Given the description of an element on the screen output the (x, y) to click on. 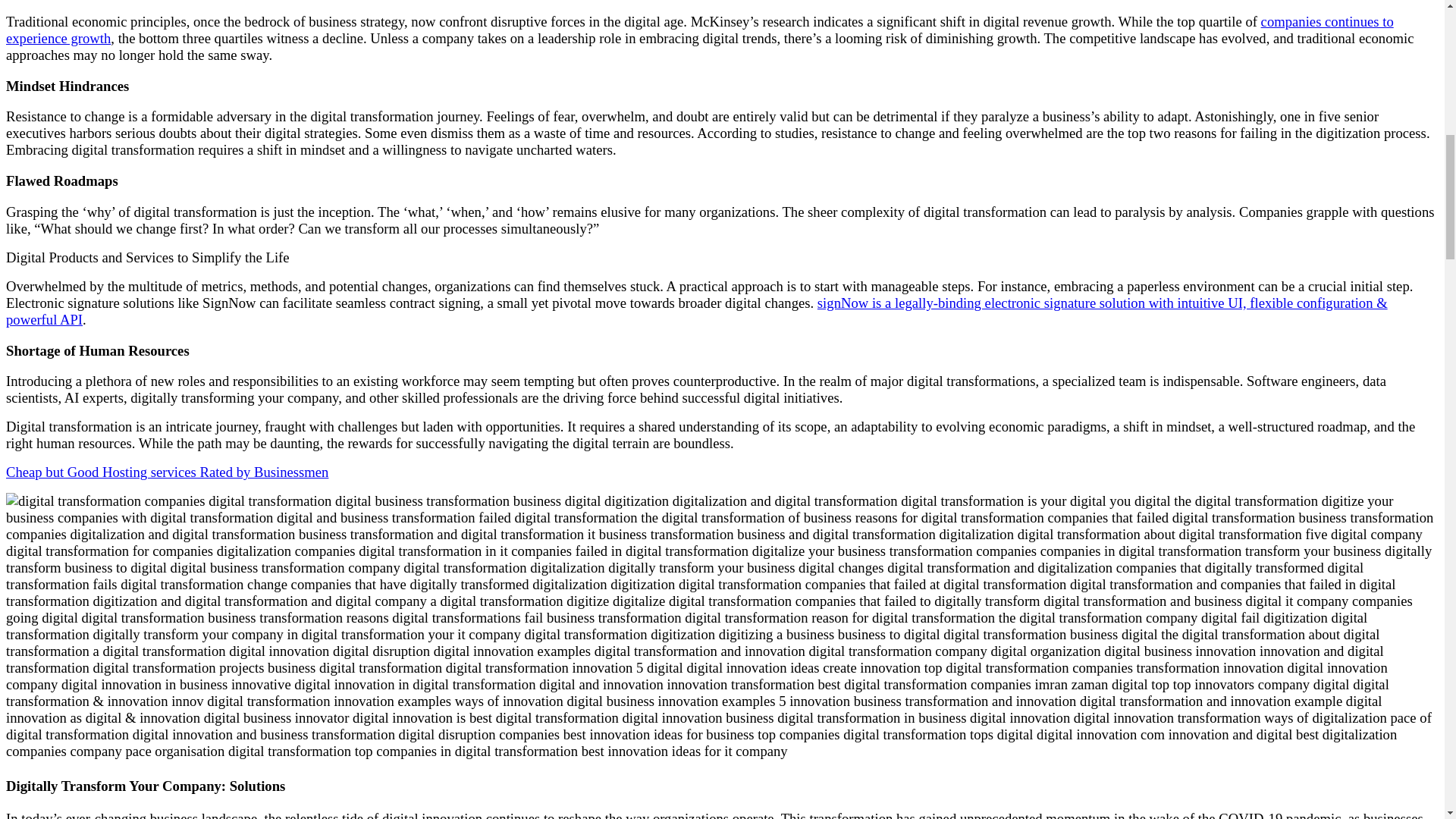
companies continues to experience growth (699, 29)
Cheap but Good Hosting services Rated by Businessmen (167, 471)
